Given the description of an element on the screen output the (x, y) to click on. 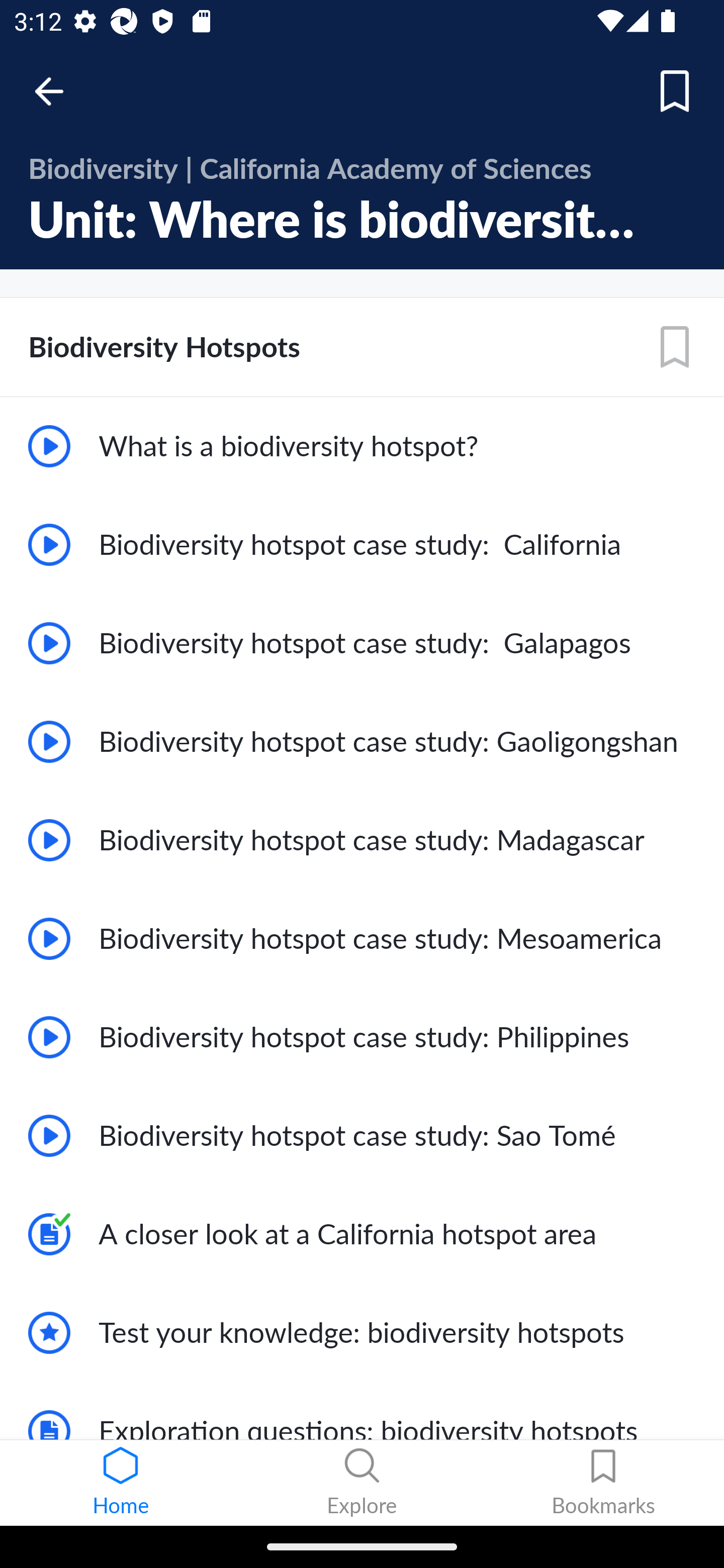
Back (58, 91)
Add Bookmark (674, 91)
Add Bookmark (674, 347)
What is a biodiversity hotspot? (362, 445)
Biodiversity hotspot case study:  California (362, 544)
Biodiversity hotspot case study:  Galapagos (362, 643)
Biodiversity hotspot case study: Gaoligongshan (362, 741)
Biodiversity hotspot case study: Madagascar (362, 839)
Biodiversity hotspot case study: Mesoamerica (362, 938)
Biodiversity hotspot case study: Philippines (362, 1036)
Biodiversity hotspot case study: Sao Tomé (362, 1135)
A closer look at a California hotspot area (362, 1234)
Test your knowledge: biodiversity hotspots (362, 1332)
Home (120, 1482)
Explore (361, 1482)
Bookmarks (603, 1482)
